Given the description of an element on the screen output the (x, y) to click on. 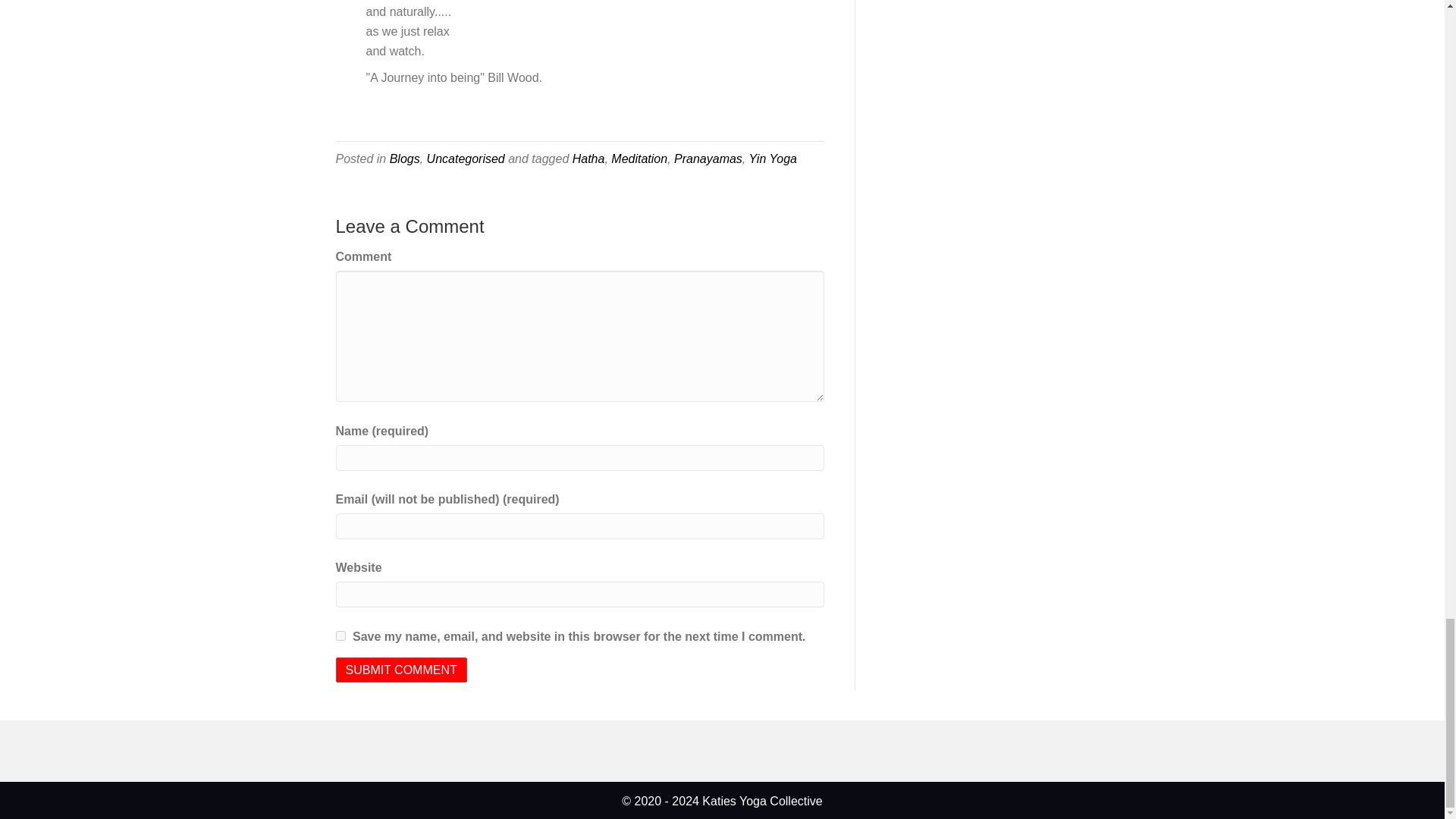
Meditation (638, 158)
Pranayamas (708, 158)
Hatha (588, 158)
Yin Yoga (772, 158)
Blogs (405, 158)
yes (339, 635)
Uncategorised (465, 158)
Submit Comment (399, 669)
Submit Comment (399, 669)
